Given the description of an element on the screen output the (x, y) to click on. 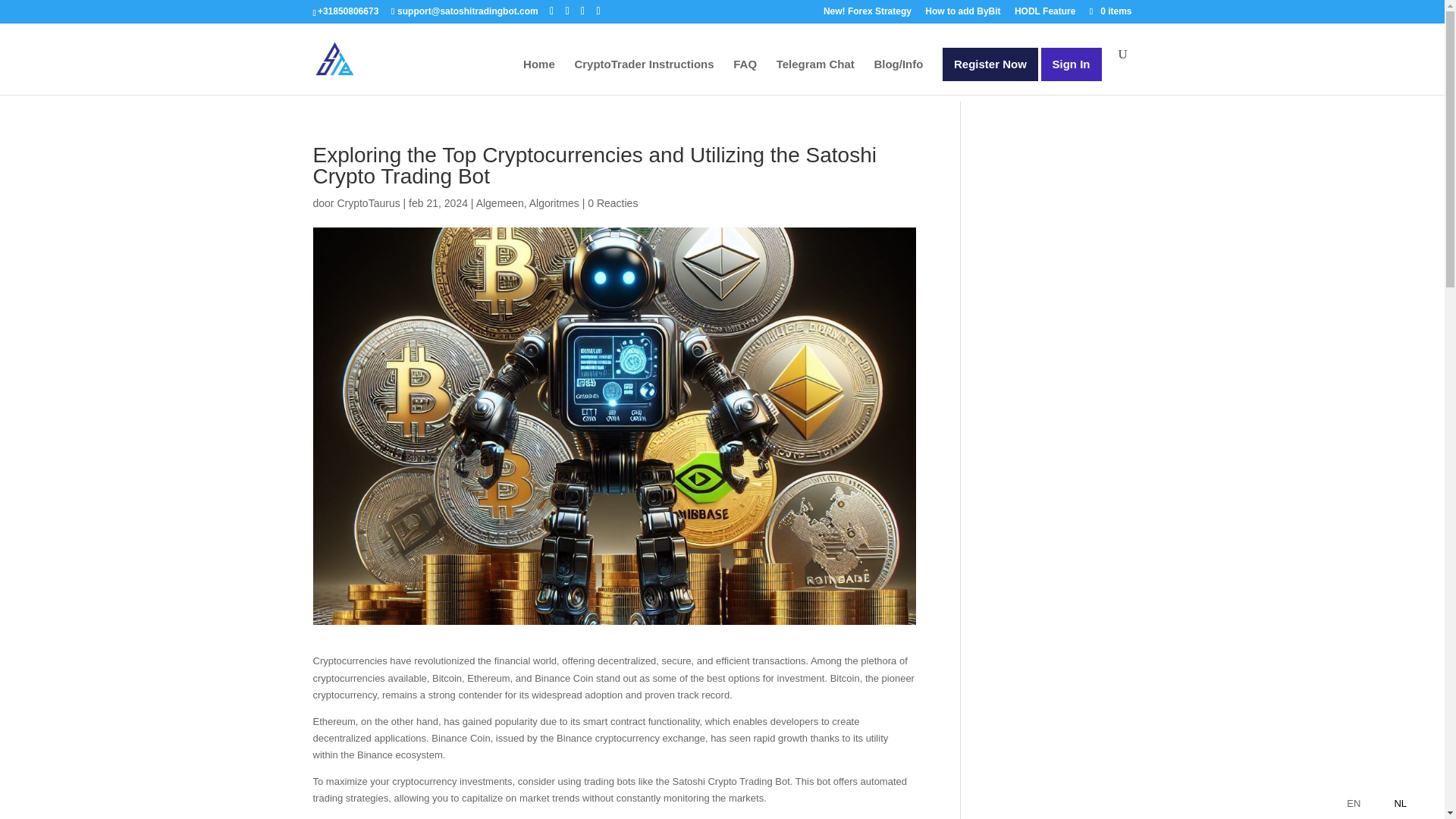
0 Reacties (612, 203)
Language switcher : Dutch (1386, 803)
0 items (1108, 10)
How to add ByBit (962, 14)
New! Forex Strategy (867, 14)
Home (538, 76)
CryptoTaurus (367, 203)
HODL Feature (1044, 14)
Algoritmes (554, 203)
Register Now (990, 64)
